Given the description of an element on the screen output the (x, y) to click on. 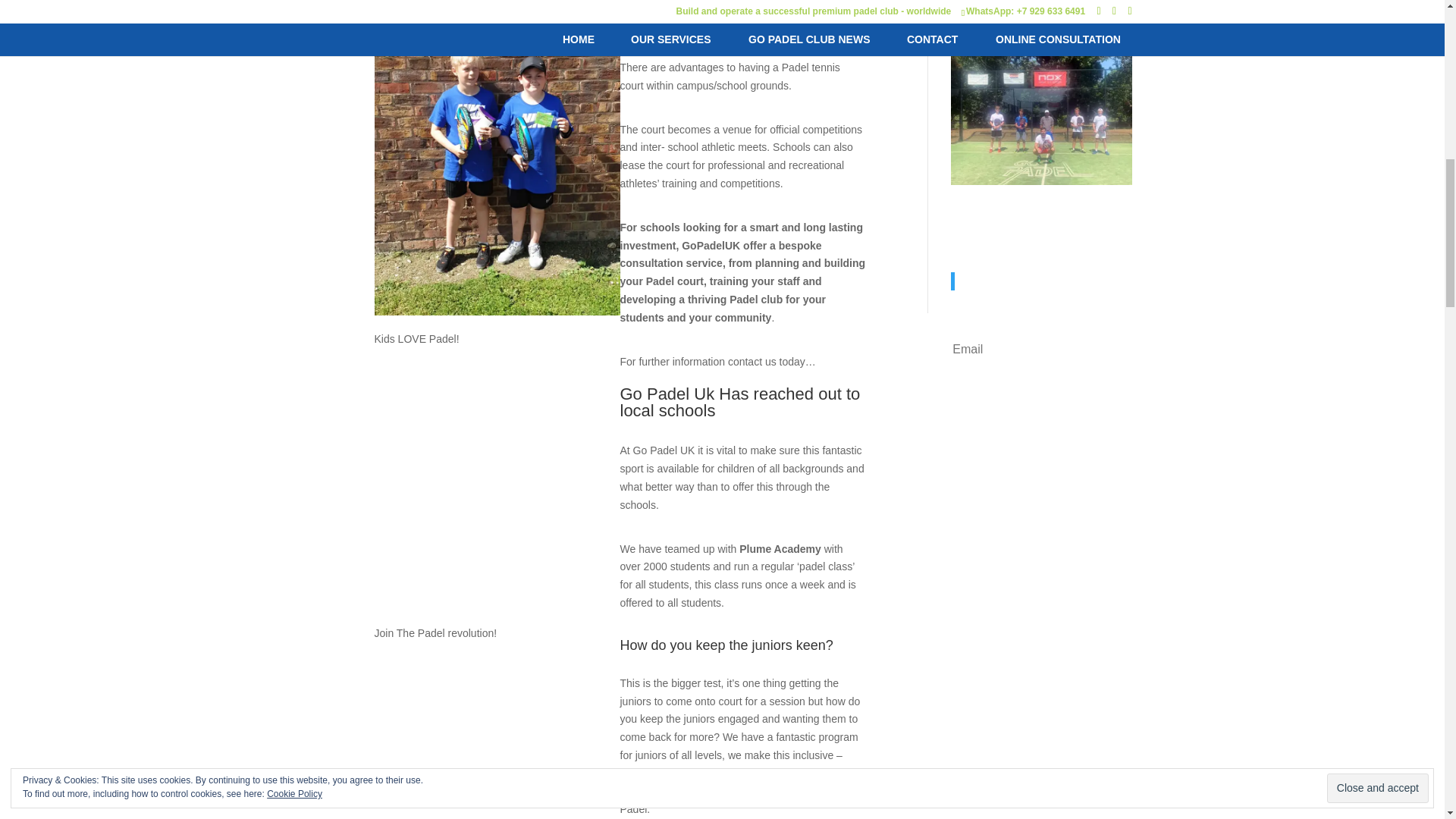
Go Padel Club On Facebook (1037, 242)
Subscribe (1029, 396)
Go Padel Club On Facebook (1037, 280)
Uncategorised (984, 2)
